Given the description of an element on the screen output the (x, y) to click on. 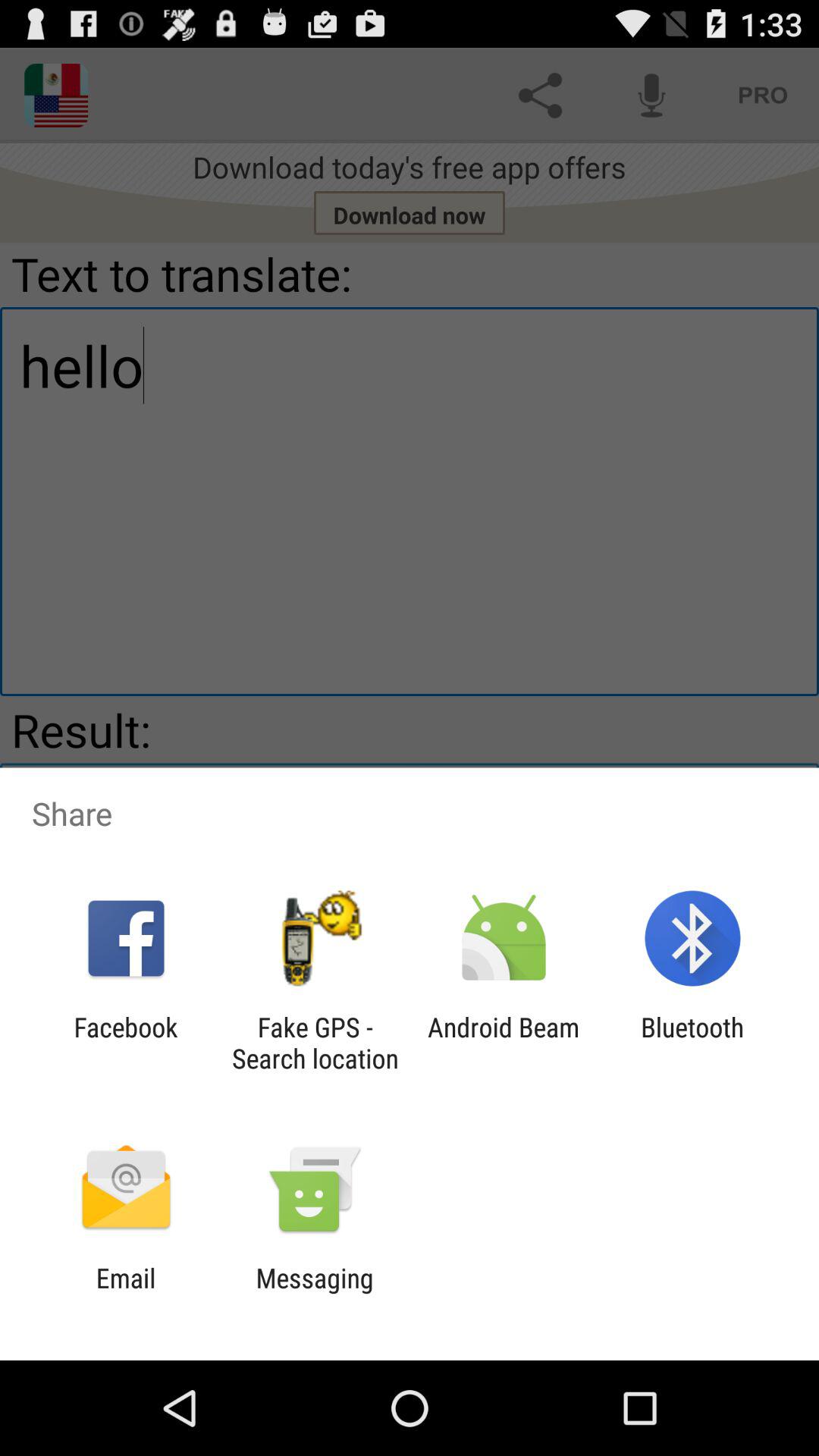
jump until the android beam (503, 1042)
